Given the description of an element on the screen output the (x, y) to click on. 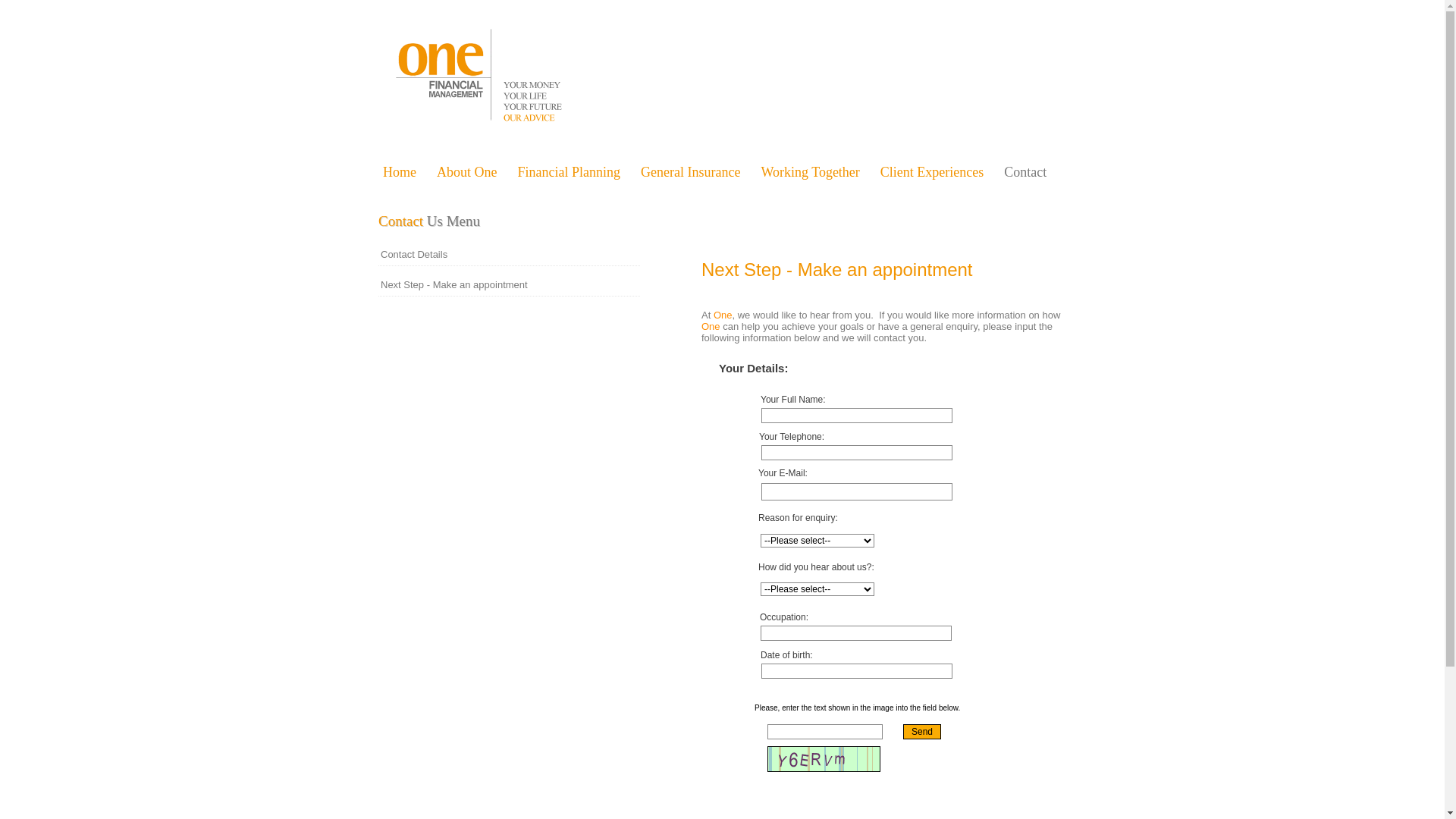
Contact Details Element type: text (509, 254)
Working Together Element type: text (817, 174)
Next Step - Make an appointment Element type: text (509, 284)
General Insurance Element type: text (697, 174)
Client Experiences Element type: text (939, 174)
Contact Element type: text (1035, 174)
Financial Planning Element type: text (575, 174)
Send Element type: text (922, 731)
About One Element type: text (475, 174)
Home Element type: text (409, 174)
